Given the description of an element on the screen output the (x, y) to click on. 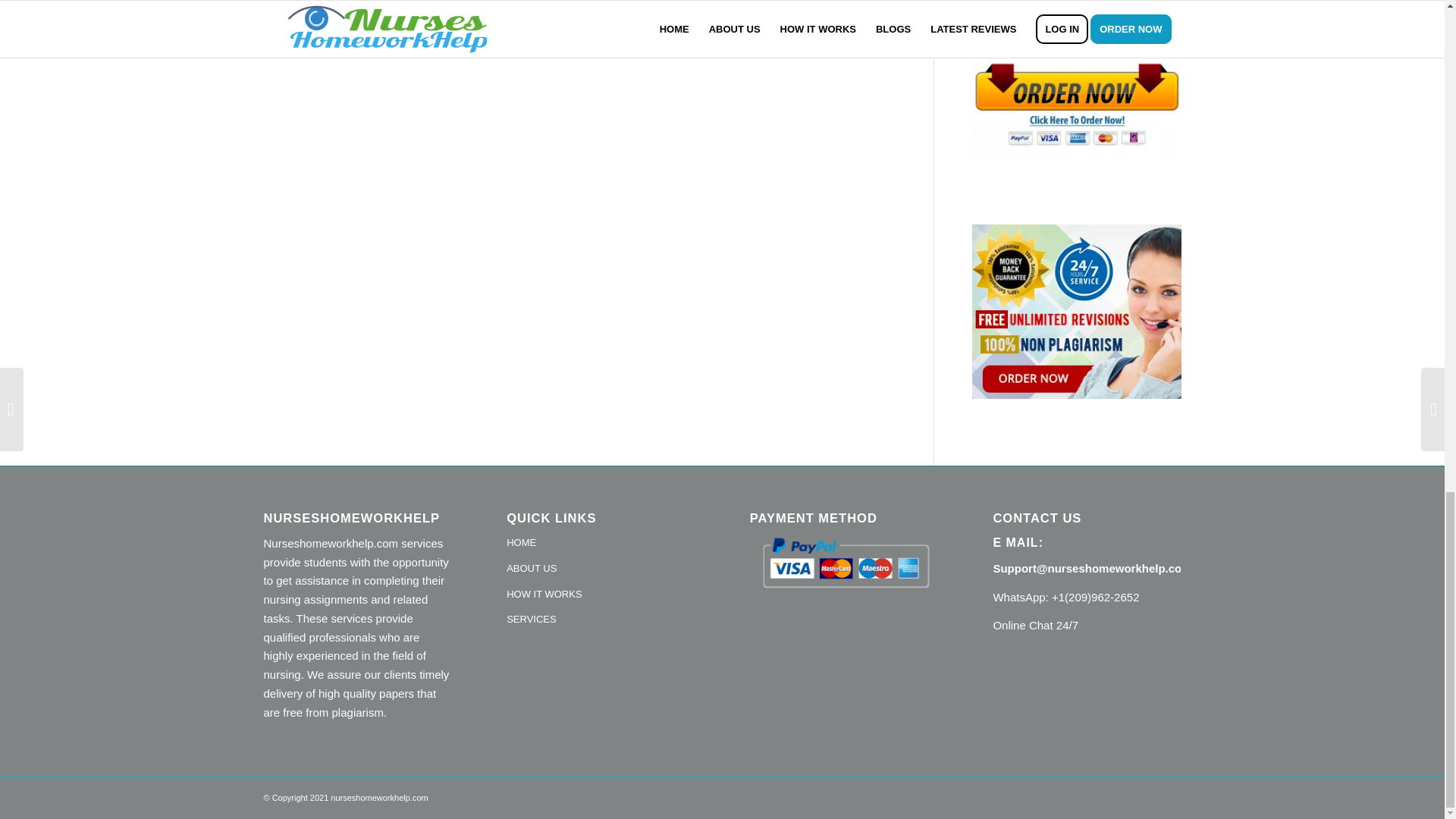
HOW IT WORKS (600, 595)
HOME (600, 543)
SERVICES (600, 620)
ABOUT US (600, 569)
